Given the description of an element on the screen output the (x, y) to click on. 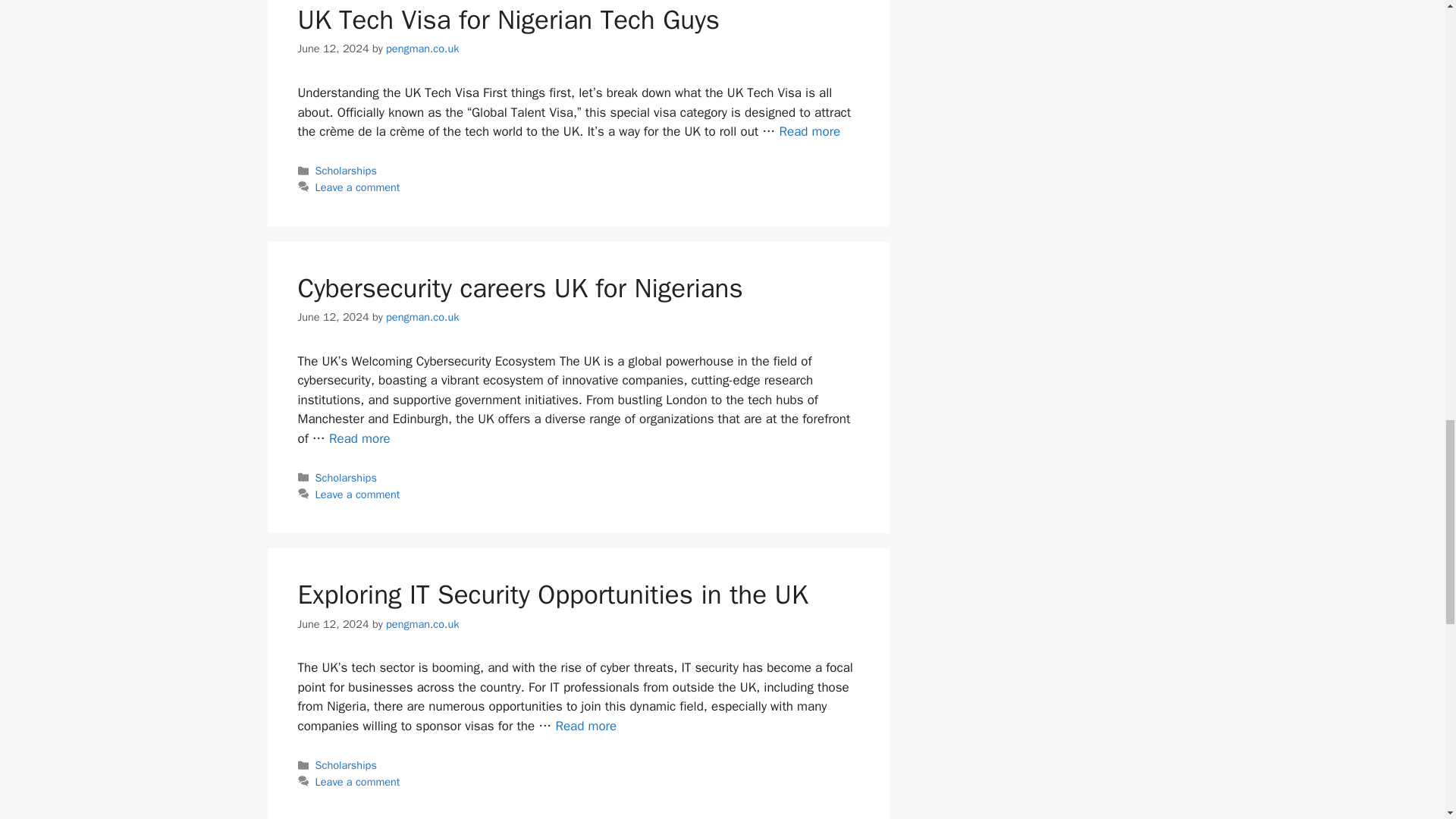
pengman.co.uk (421, 48)
UK Tech Visa for Nigerian Tech Guys (809, 131)
View all posts by pengman.co.uk (421, 623)
View all posts by pengman.co.uk (421, 48)
Exploring IT Security Opportunities in the UK (584, 725)
Cybersecurity careers UK for Nigerians (359, 438)
Read more (809, 131)
Scholarships (346, 170)
View all posts by pengman.co.uk (421, 316)
UK Tech Visa for Nigerian Tech Guys (508, 19)
